Given the description of an element on the screen output the (x, y) to click on. 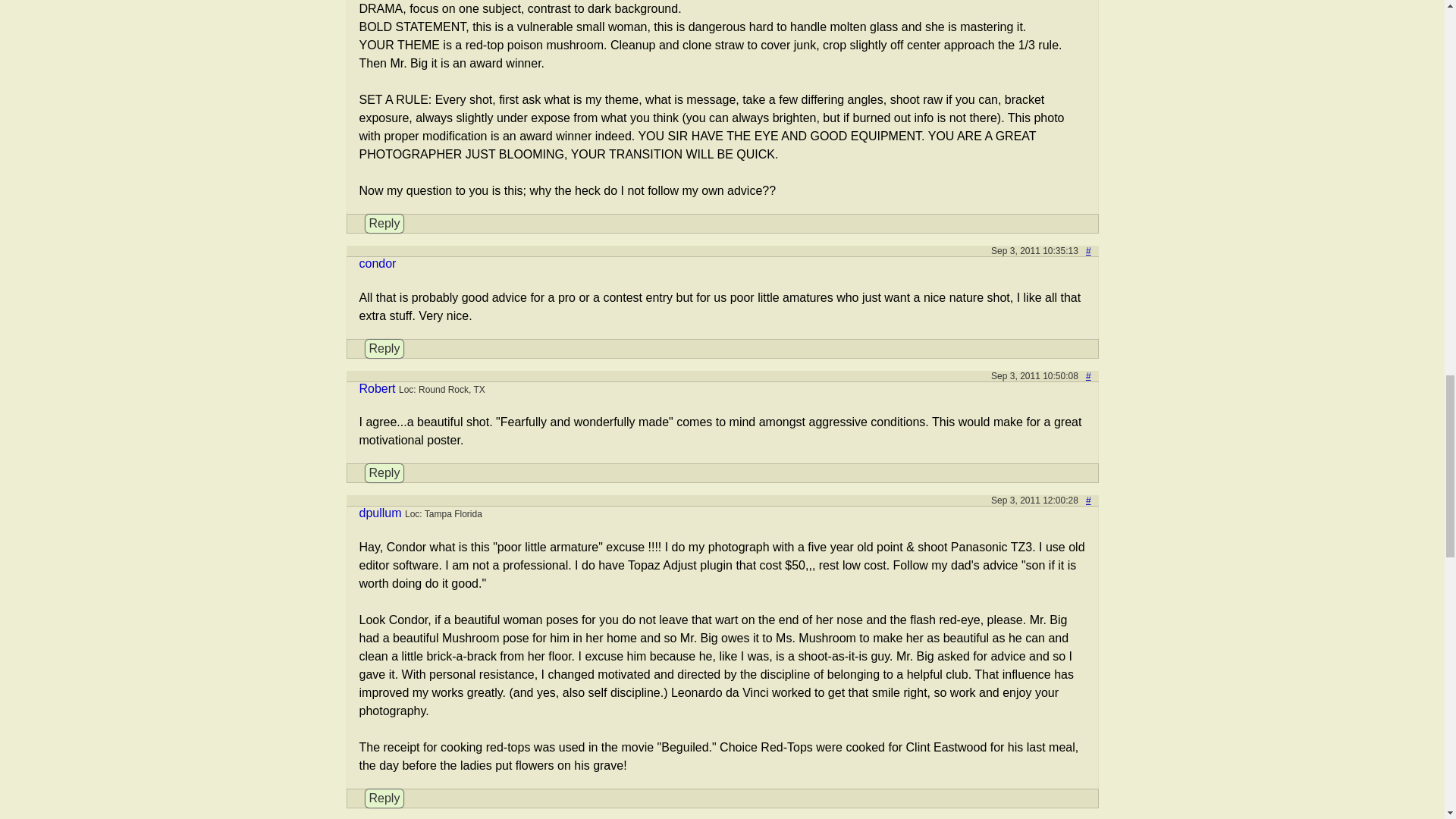
condor (377, 263)
dpullum (380, 512)
Robert (377, 388)
Reply (384, 348)
Reply (384, 473)
Reply (384, 798)
Reply (384, 223)
